Given the description of an element on the screen output the (x, y) to click on. 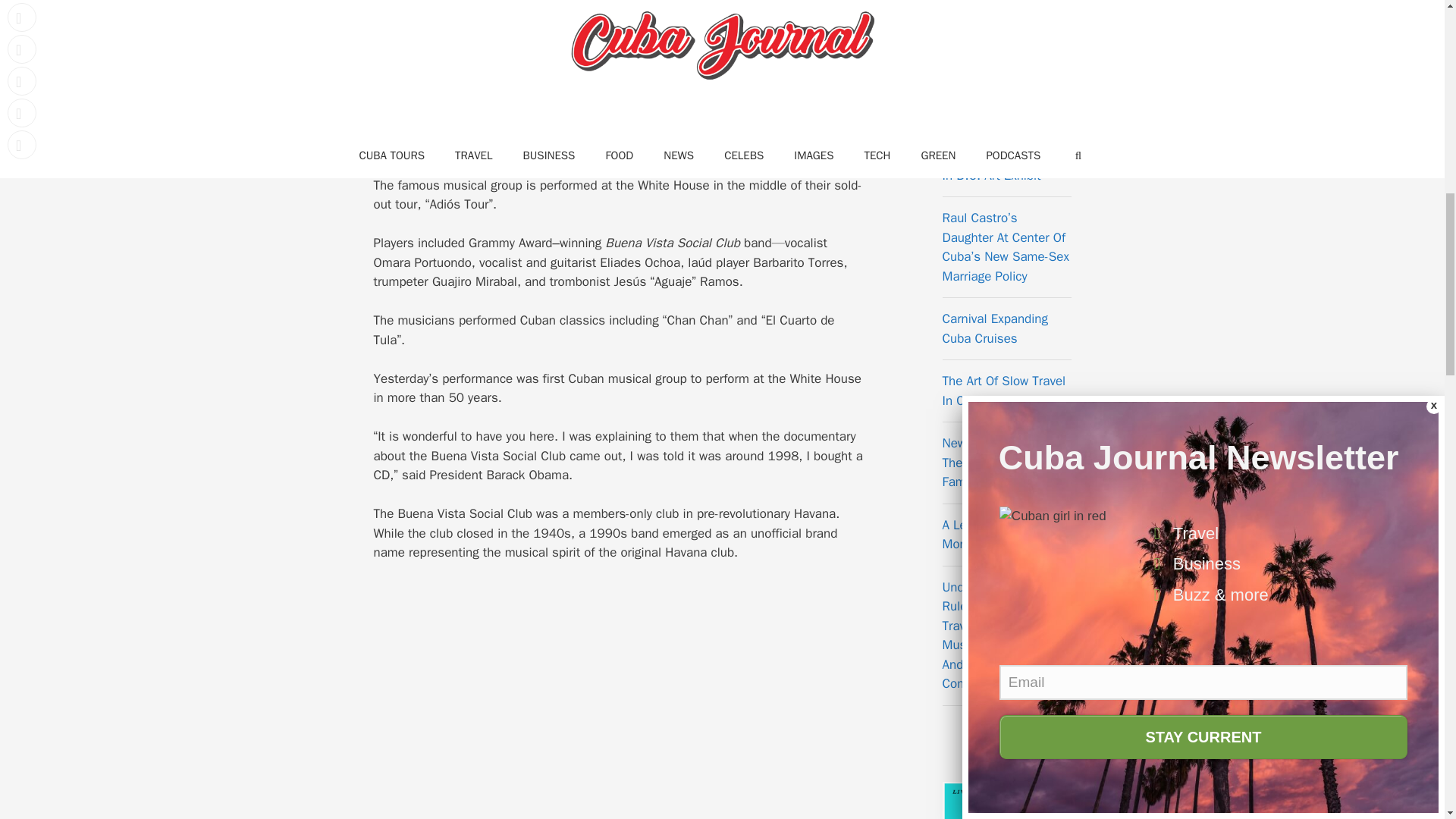
YouTube player (619, 700)
